Given the description of an element on the screen output the (x, y) to click on. 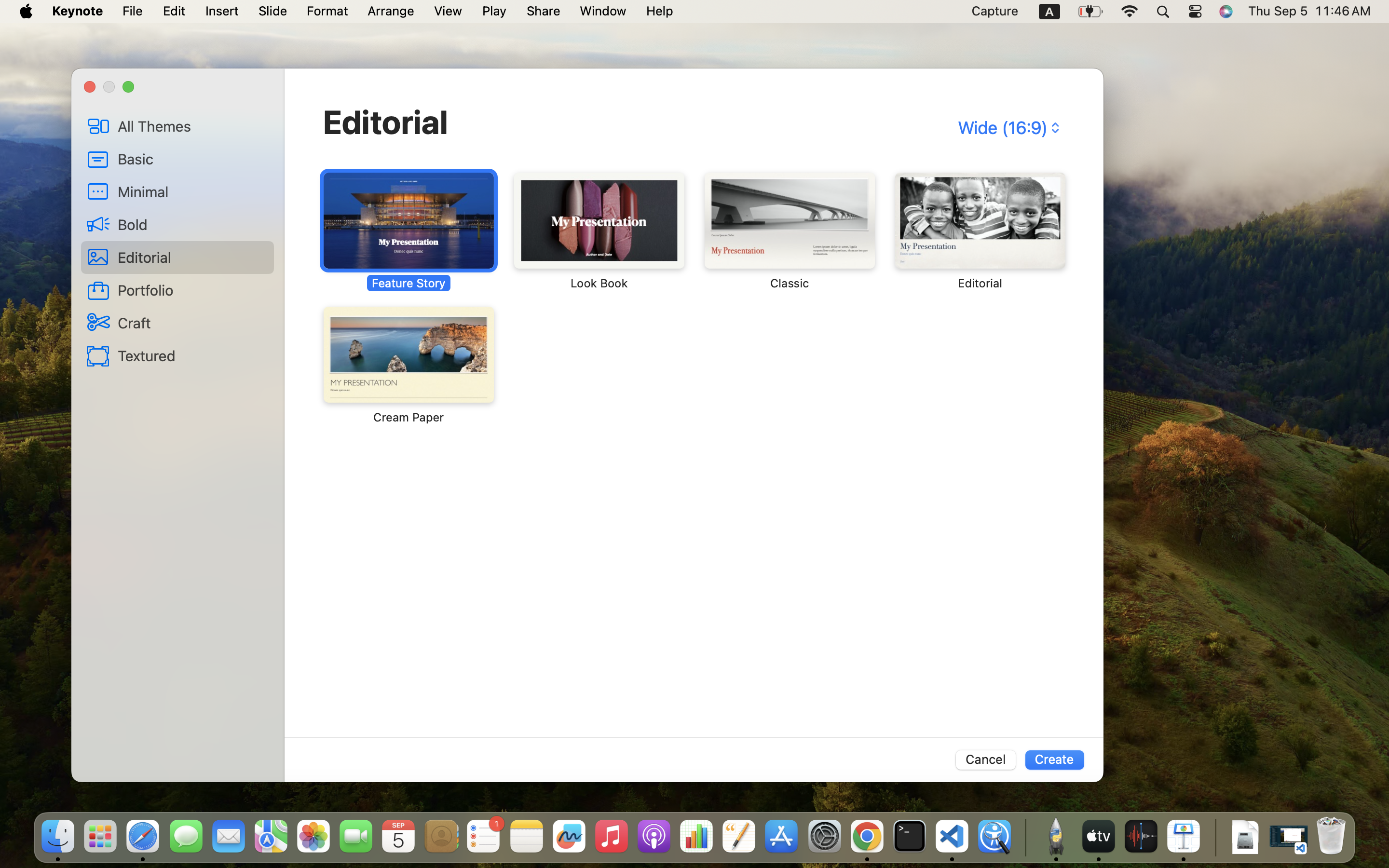
‎⁨Editorial⁩ Element type: AXButton (979, 230)
‎⁨Feature Story⁩ Element type: AXButton (408, 230)
Editorial Element type: AXStaticText (385, 121)
Portfolio Element type: AXStaticText (191, 289)
All Themes Element type: AXStaticText (191, 125)
